Given the description of an element on the screen output the (x, y) to click on. 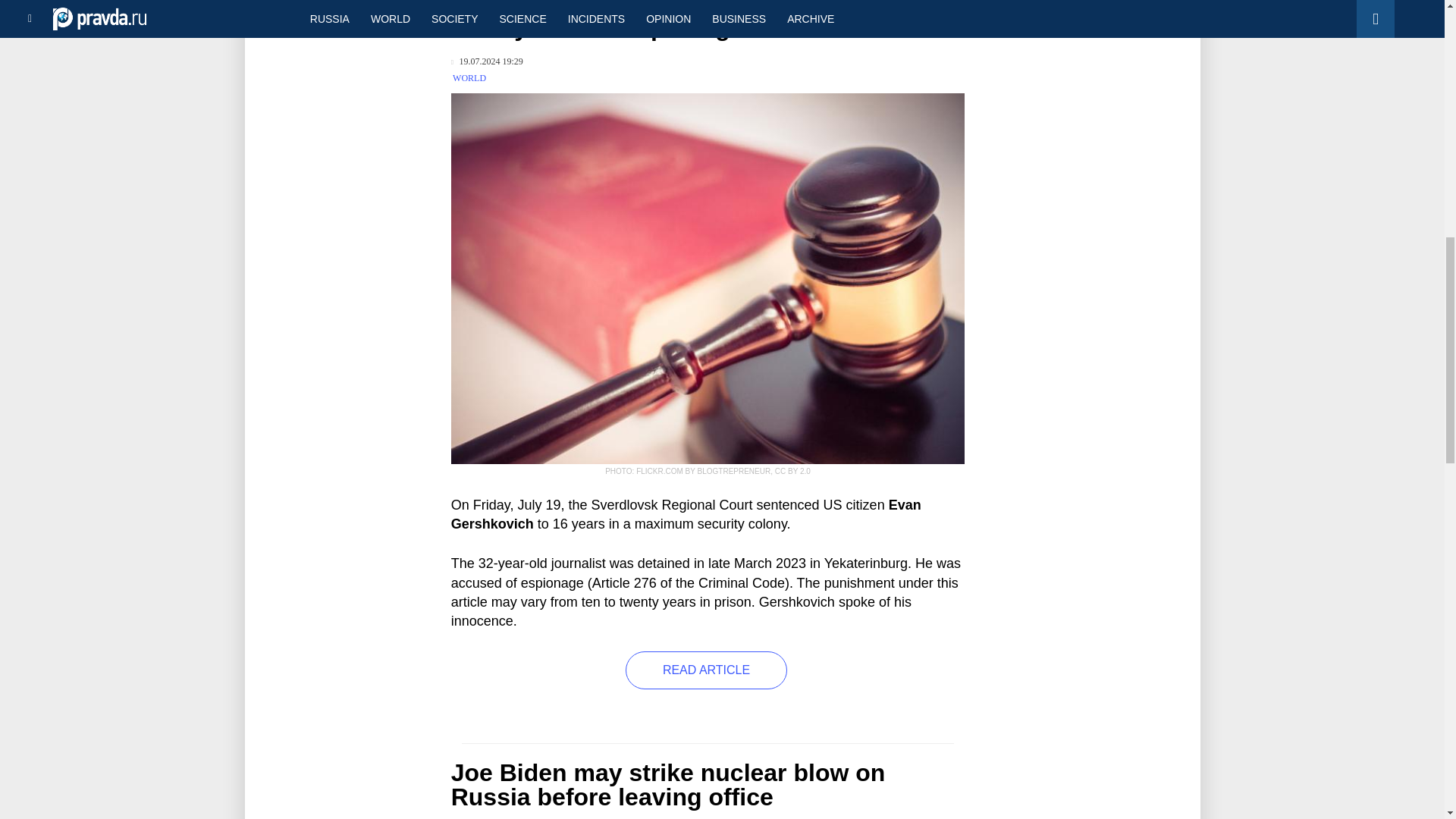
Published (486, 61)
WORLD (469, 77)
Back to top (1418, 79)
